Given the description of an element on the screen output the (x, y) to click on. 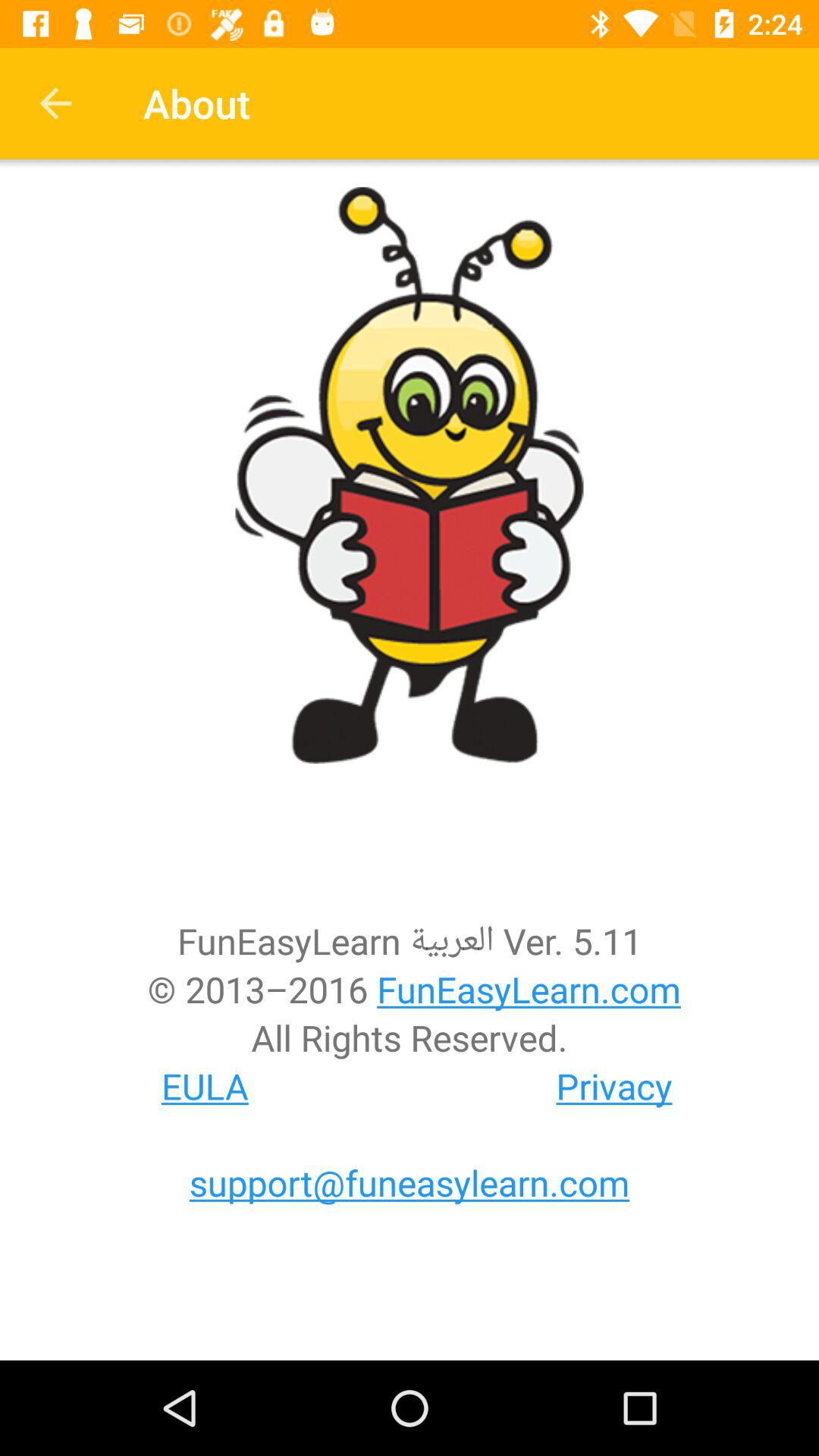
press the privacy at the bottom right corner (614, 1085)
